Given the description of an element on the screen output the (x, y) to click on. 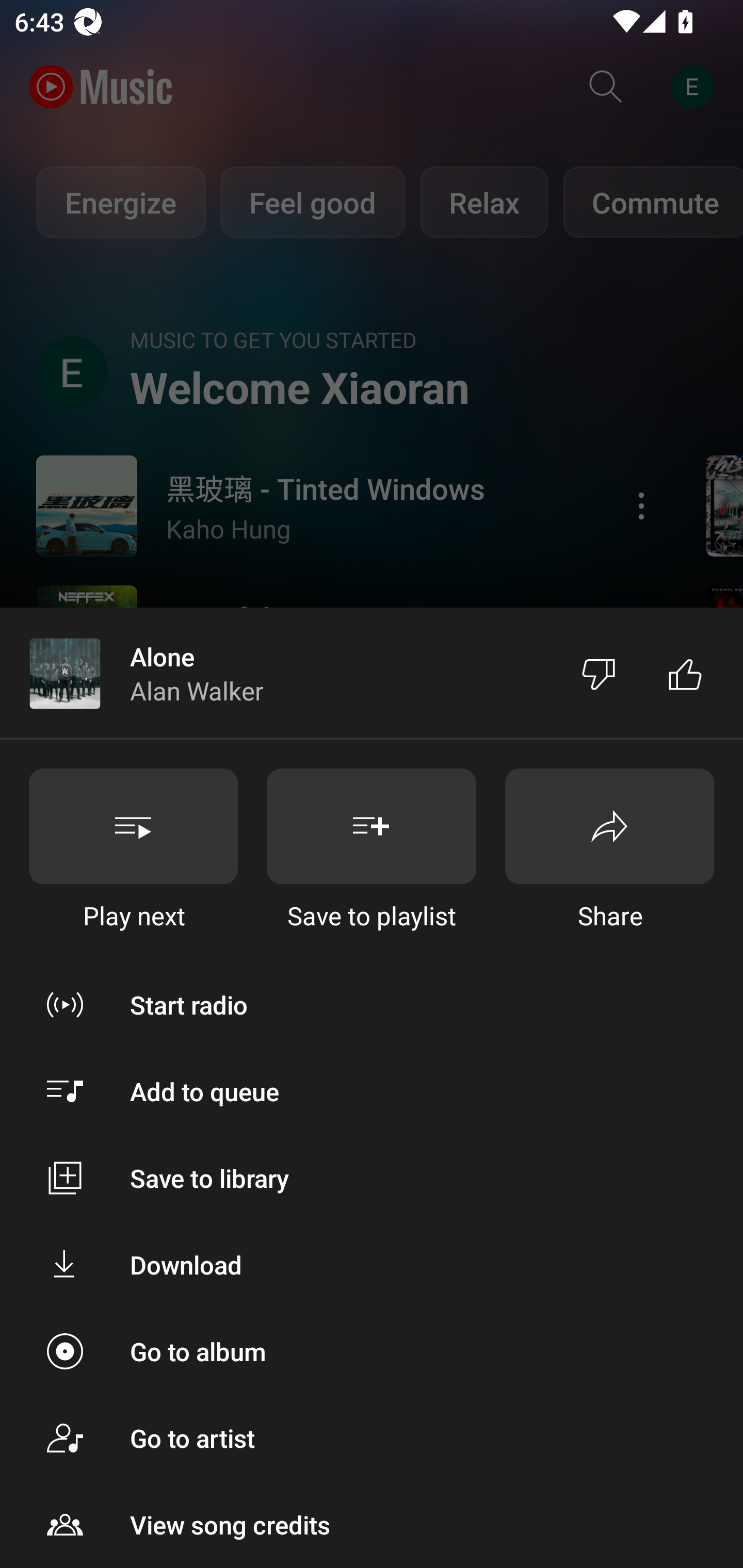
Dislike (598, 673)
Like (684, 673)
Start radio (371, 1004)
Add to queue (371, 1091)
Save to library (371, 1178)
Download (371, 1264)
Go to album (371, 1350)
Go to artist (371, 1437)
View song credits (371, 1524)
